Given the description of an element on the screen output the (x, y) to click on. 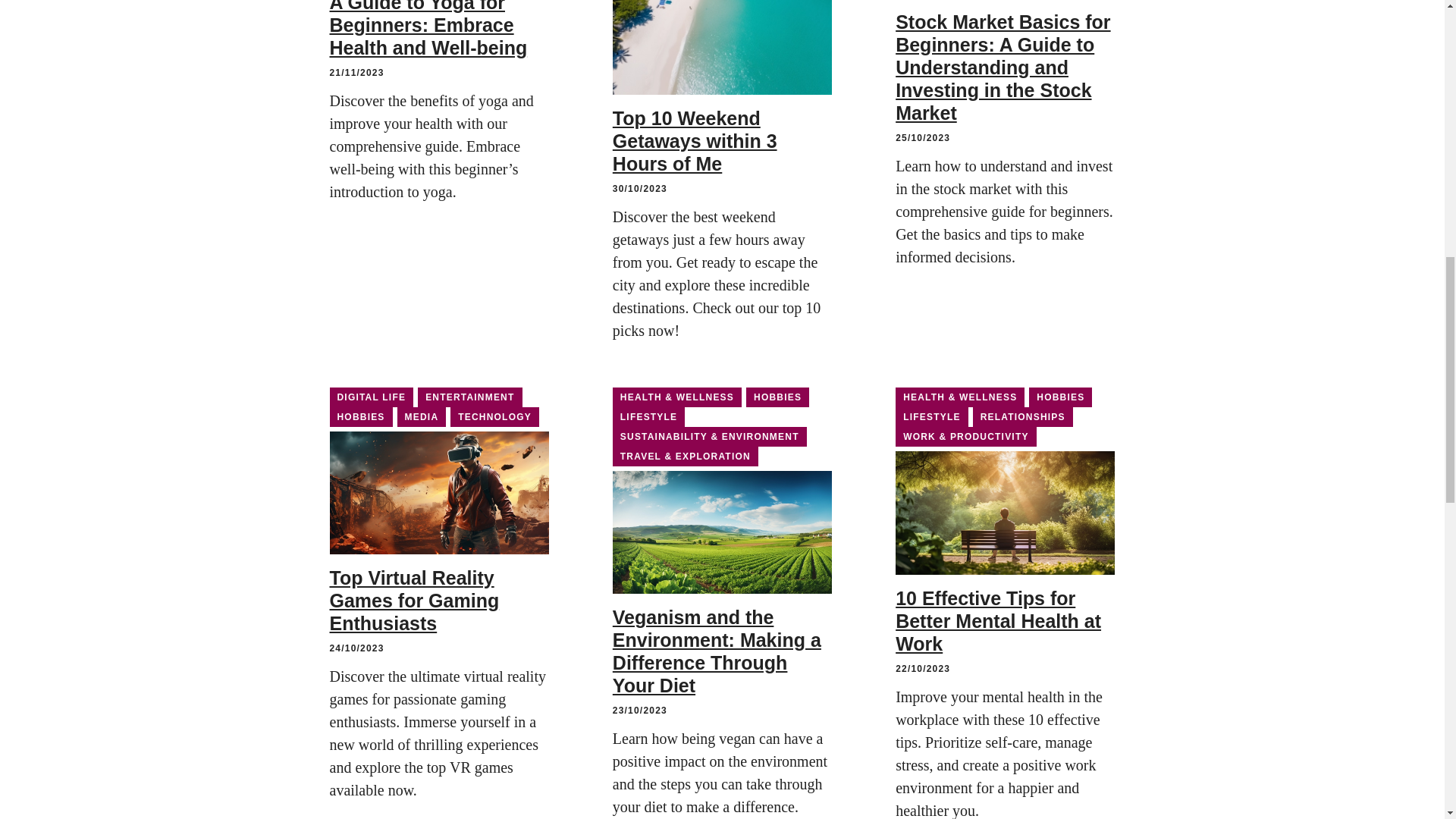
A Guide to Yoga for Beginners: Embrace Health and Well-being (428, 29)
Top 10 Weekend Getaways within 3 Hours of Me (694, 140)
